Given the description of an element on the screen output the (x, y) to click on. 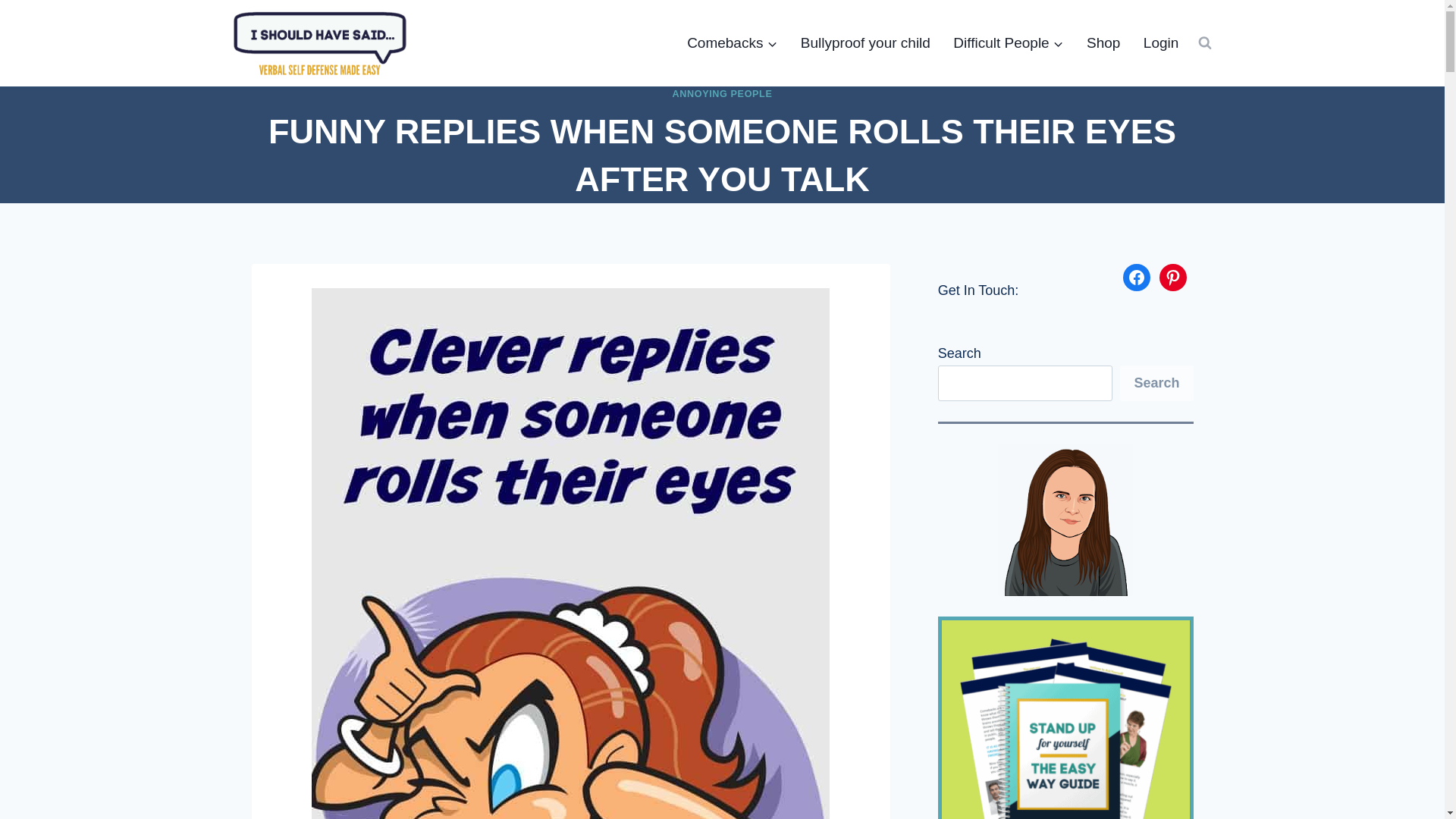
Comebacks (732, 42)
Bullyproof your child (865, 42)
ANNOYING PEOPLE (722, 93)
Shop (1103, 42)
Login (1161, 42)
Difficult People (1008, 42)
